Given the description of an element on the screen output the (x, y) to click on. 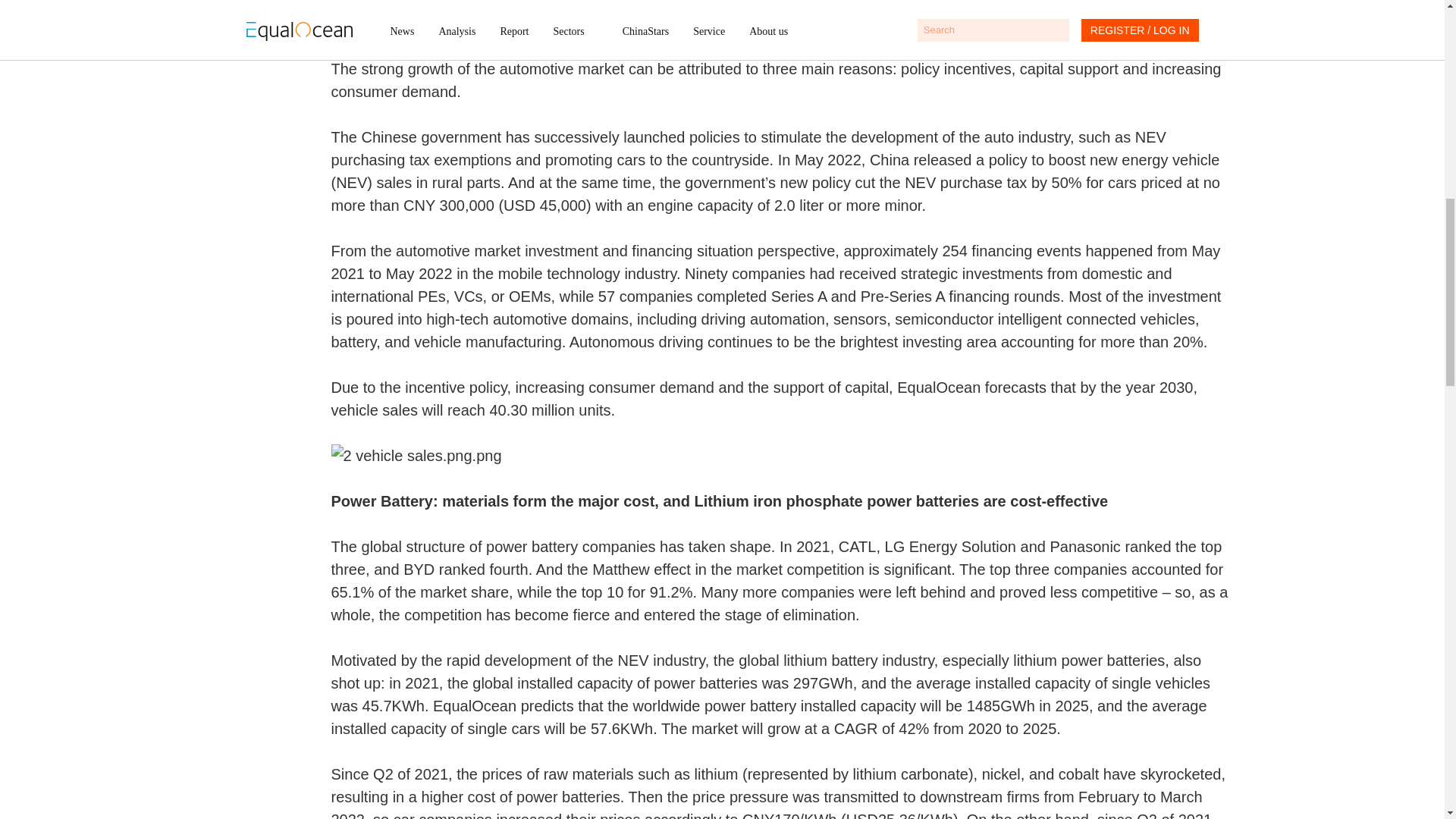
16660842691682.png (781, 455)
